Given the description of an element on the screen output the (x, y) to click on. 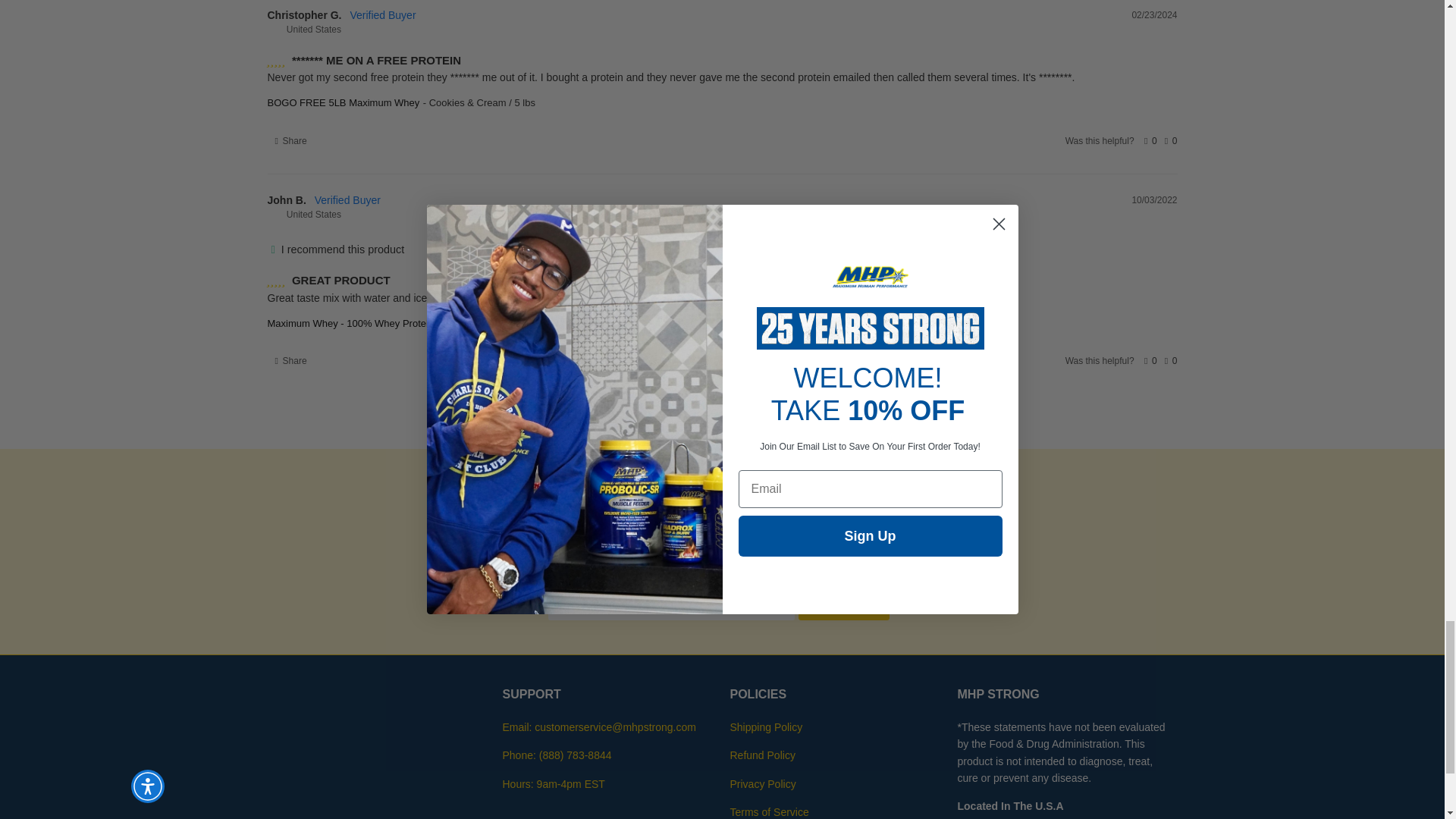
Sign Up (842, 603)
